Given the description of an element on the screen output the (x, y) to click on. 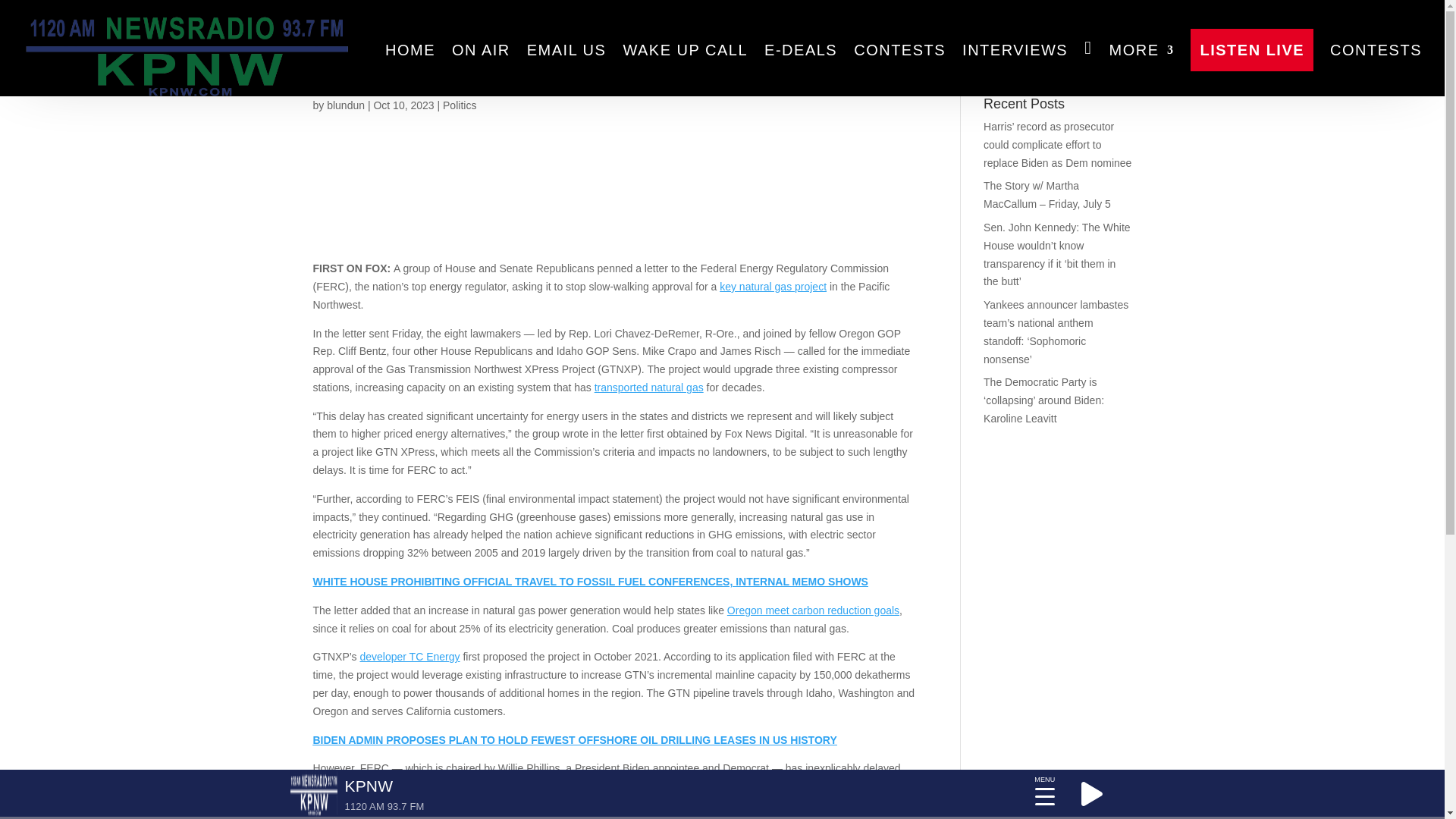
LISTEN LIVE (1252, 49)
Posts by blundun (345, 105)
blundun (345, 105)
CONTESTS (898, 49)
key natural gas project (773, 286)
INTERVIEWS (1014, 49)
WAKE UP CALL (685, 49)
CONTESTS (1376, 49)
Search (1106, 59)
Politics (459, 105)
transported natural gas (648, 387)
